Given the description of an element on the screen output the (x, y) to click on. 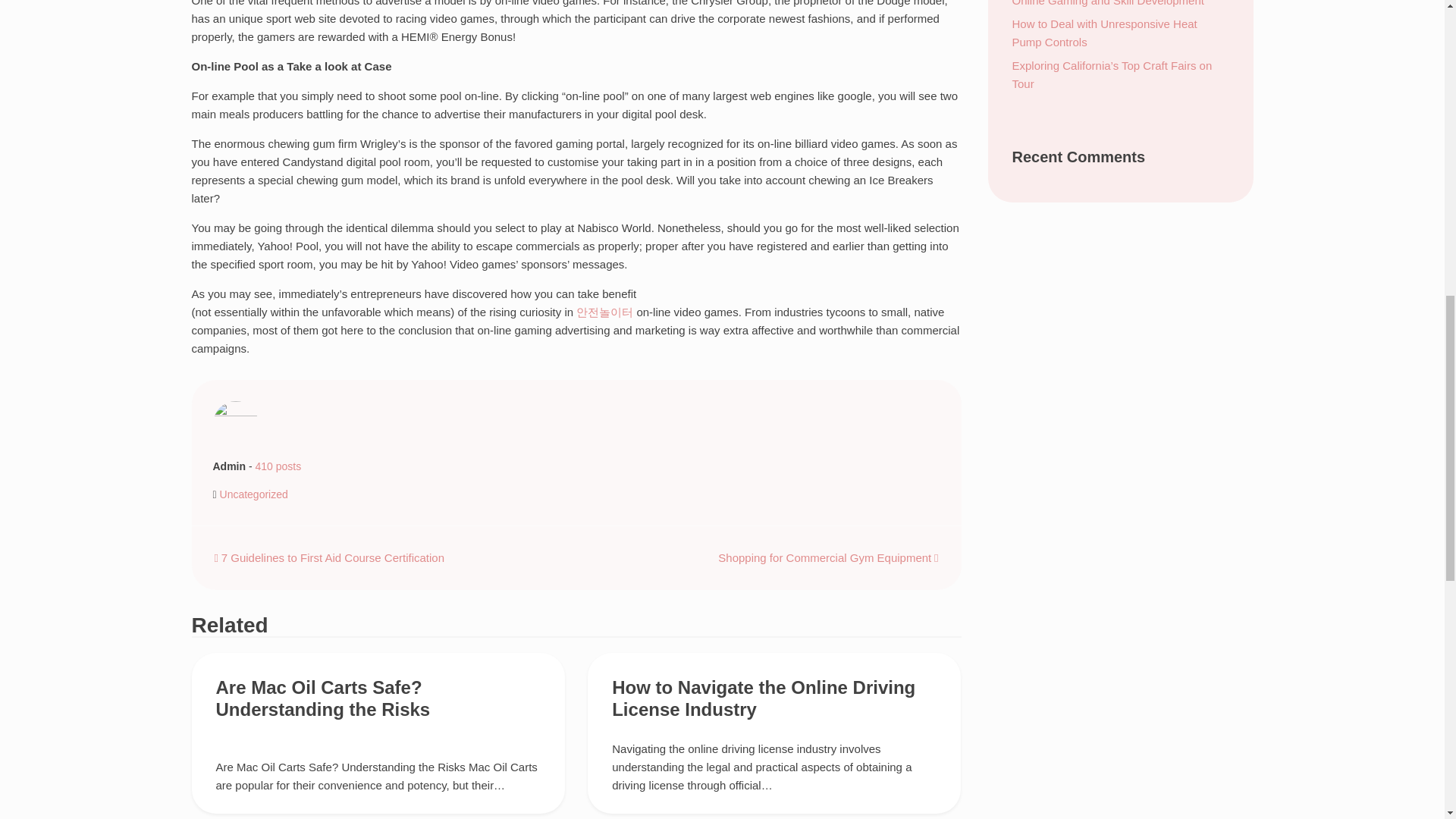
Are Mac Oil Carts Safe? Understanding the Risks (322, 698)
7 Guidelines to First Aid Course Certification (329, 557)
Online Gaming and Skill Development (1107, 3)
How to Deal with Unresponsive Heat Pump Controls (1103, 32)
Uncategorized (253, 494)
How to Navigate the Online Driving License Industry (763, 698)
Shopping for Commercial Gym Equipment (827, 557)
410 posts (278, 466)
